Given the description of an element on the screen output the (x, y) to click on. 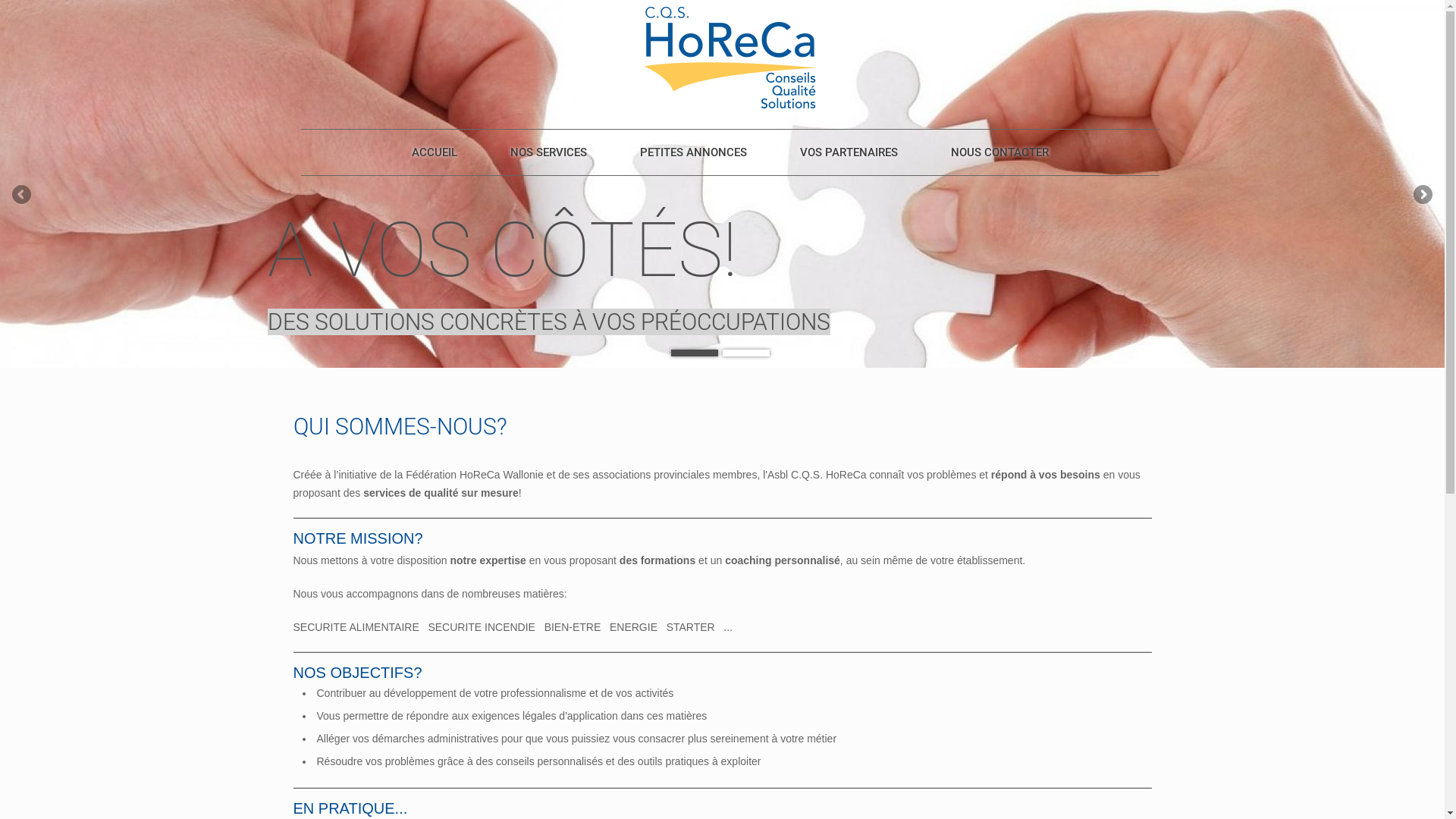
Accueil Element type: hover (729, 56)
VOS PARTENAIRES Element type: text (847, 152)
Previous Element type: text (22, 194)
PETITES ANNONCES Element type: text (693, 152)
2 Element type: text (744, 352)
NOS SERVICES Element type: text (547, 152)
ACCUEIL Element type: text (433, 152)
1 Element type: text (693, 352)
NOUS CONTACTER Element type: text (999, 152)
Suivant Element type: text (1421, 194)
